Given the description of an element on the screen output the (x, y) to click on. 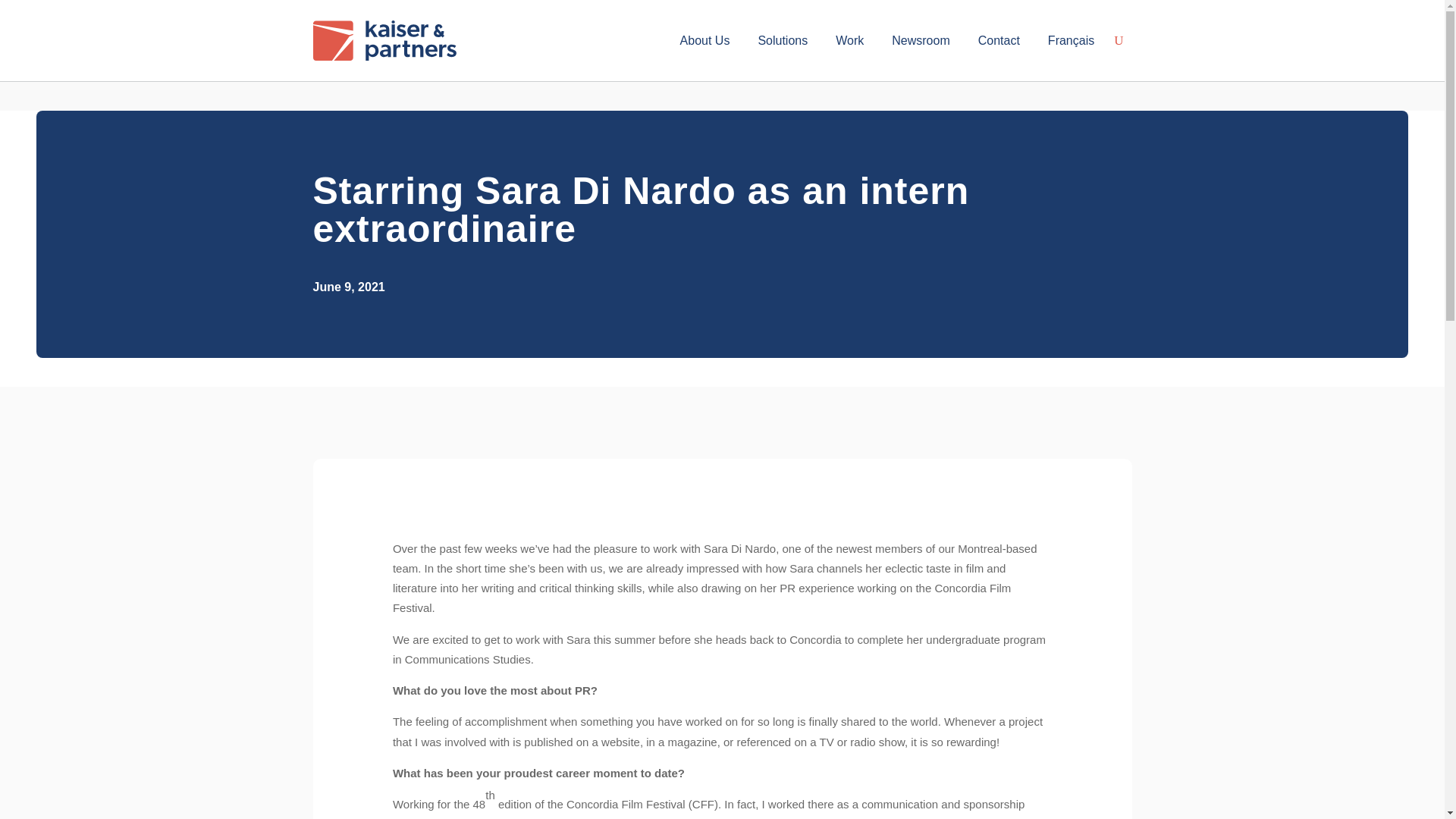
Contact (999, 43)
Newsroom (920, 43)
Solutions (782, 43)
About Us (704, 43)
Work (849, 43)
logo-en-header (384, 40)
